Given the description of an element on the screen output the (x, y) to click on. 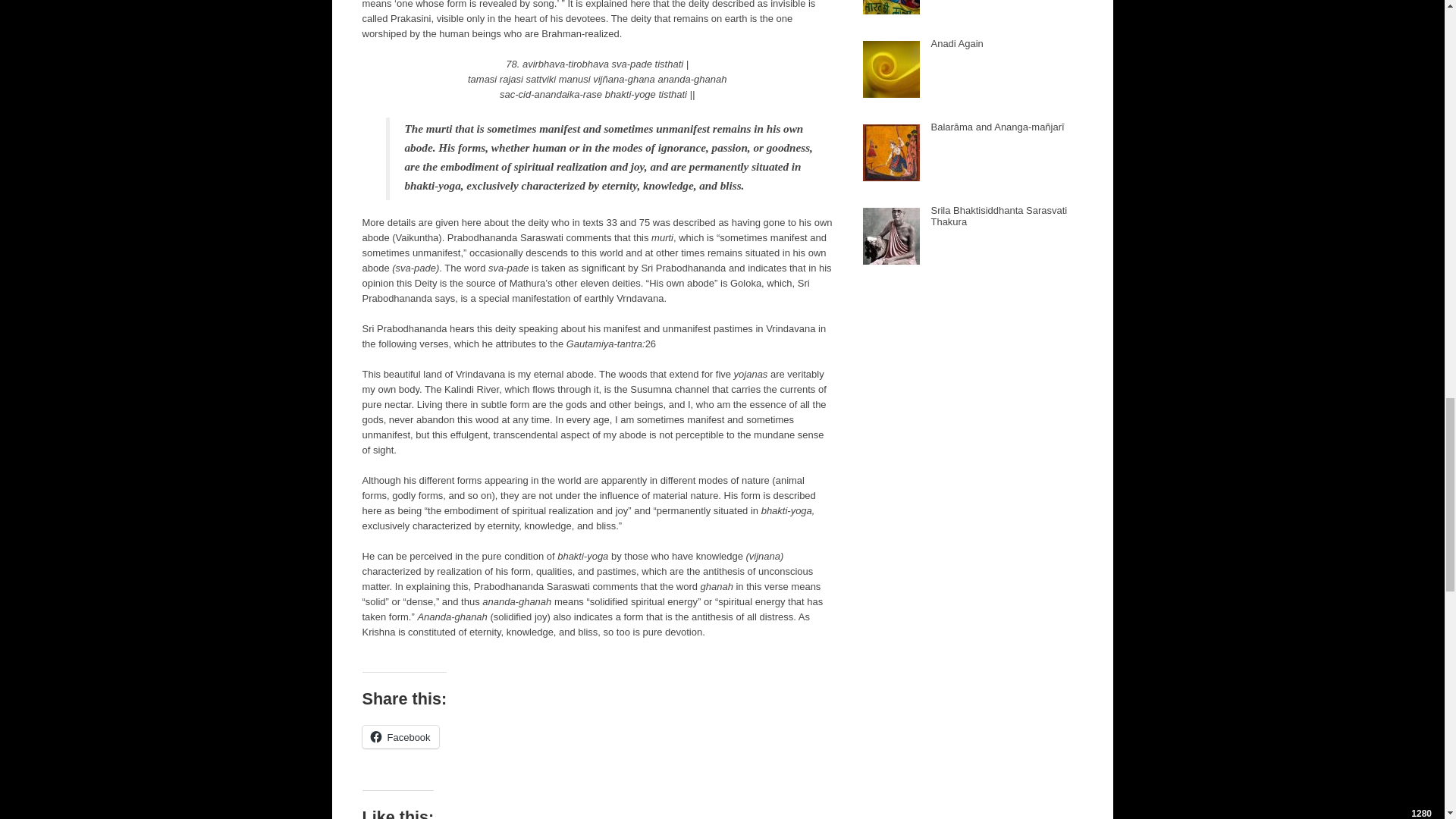
Facebook (400, 736)
